Given the description of an element on the screen output the (x, y) to click on. 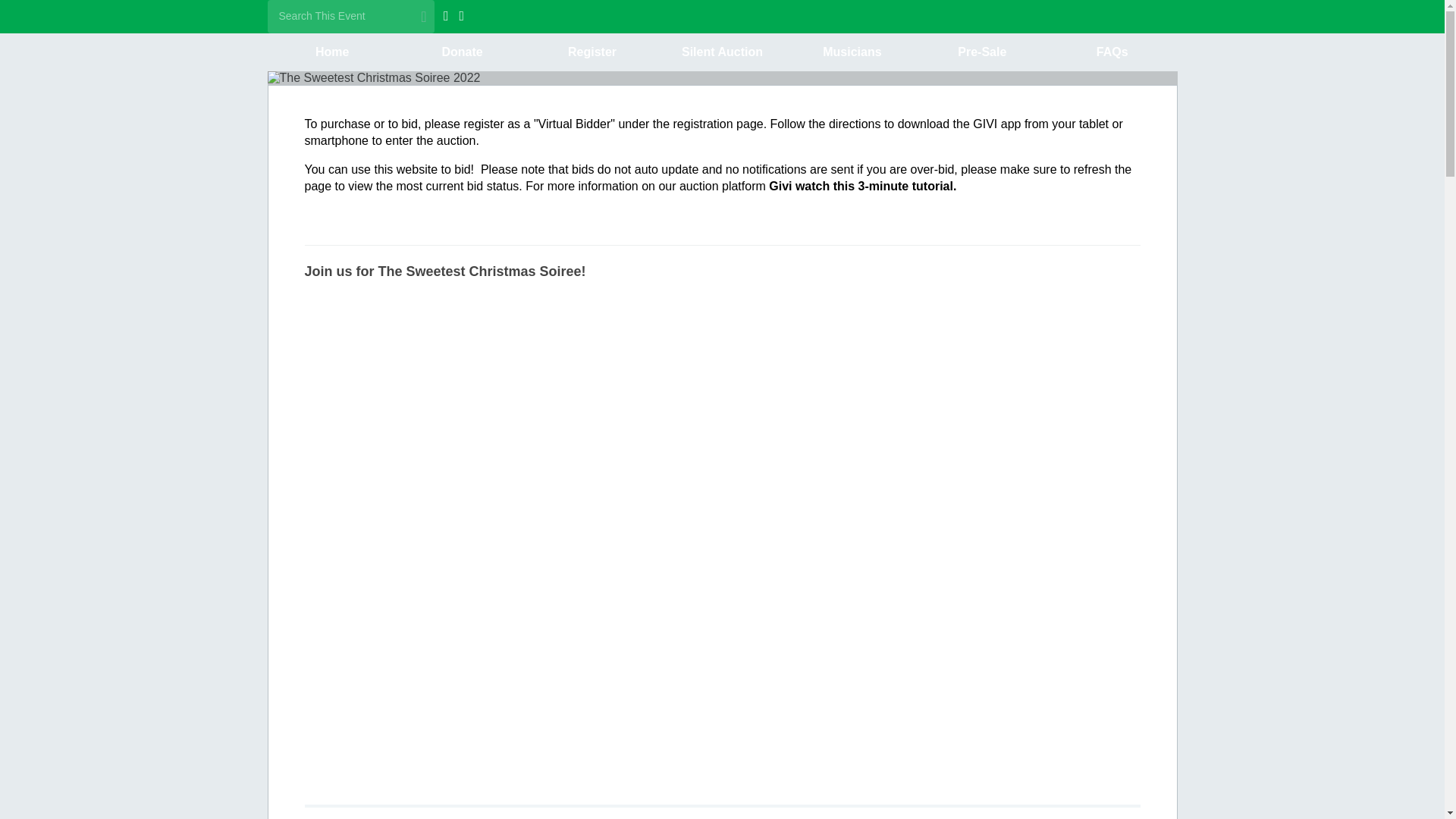
Donate (462, 52)
FAQs (1111, 52)
Register (591, 52)
Musicians (852, 52)
Home (331, 52)
Givi watch this 3-minute tutorial. (862, 186)
Silent Auction (722, 52)
Pre-Sale (981, 52)
